Given the description of an element on the screen output the (x, y) to click on. 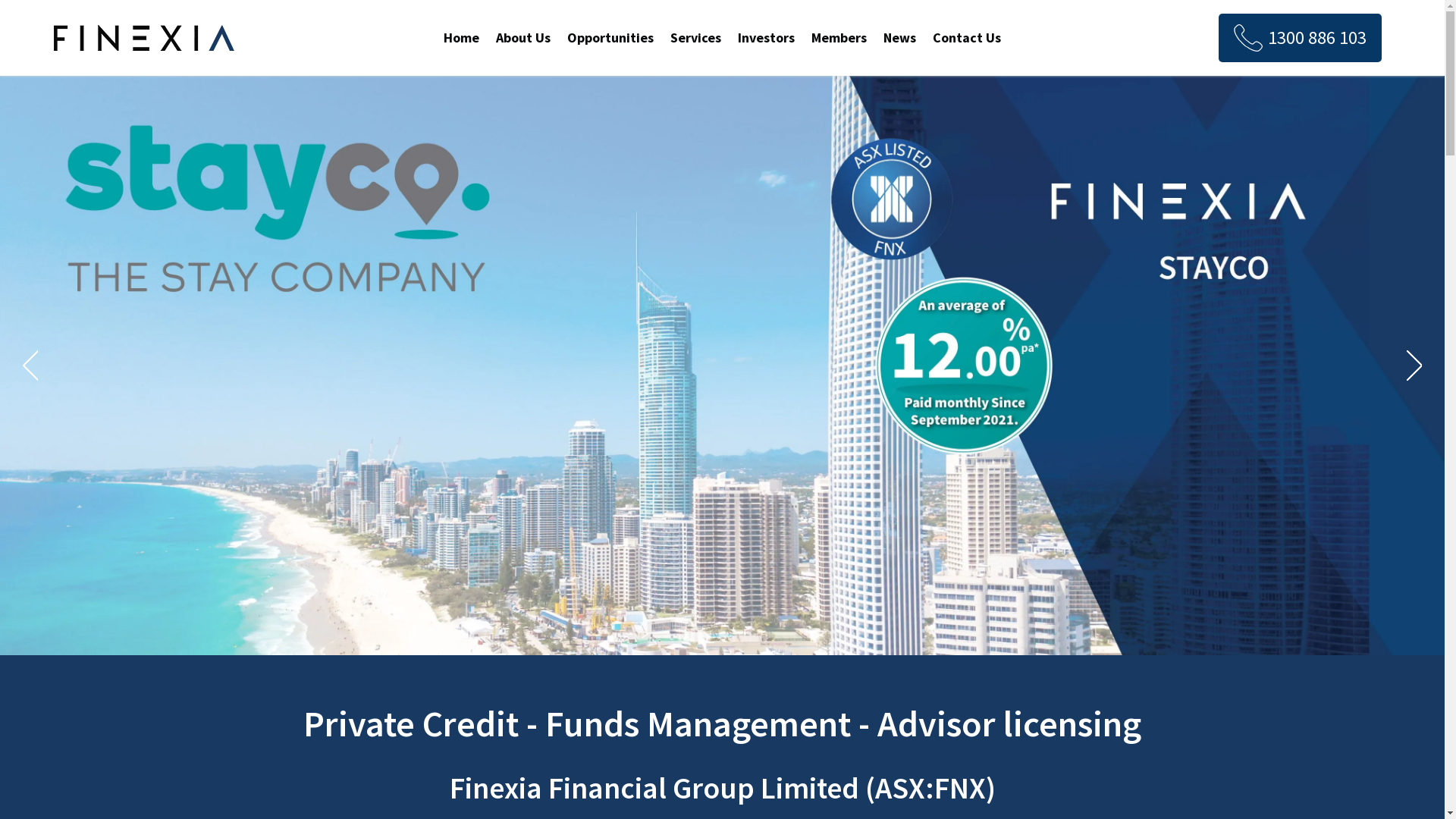
1300 886 103 Element type: text (1299, 37)
Previous Element type: text (29, 365)
Next Element type: text (1413, 365)
Services Element type: text (695, 37)
Contact Us Element type: text (966, 37)
Home Element type: text (461, 37)
Investors Element type: text (766, 37)
Opportunities Element type: text (610, 37)
About Us Element type: text (523, 37)
Finexia Financial Group Limited Element type: hover (144, 37)
News Element type: text (899, 37)
Members Element type: text (838, 37)
